Given the description of an element on the screen output the (x, y) to click on. 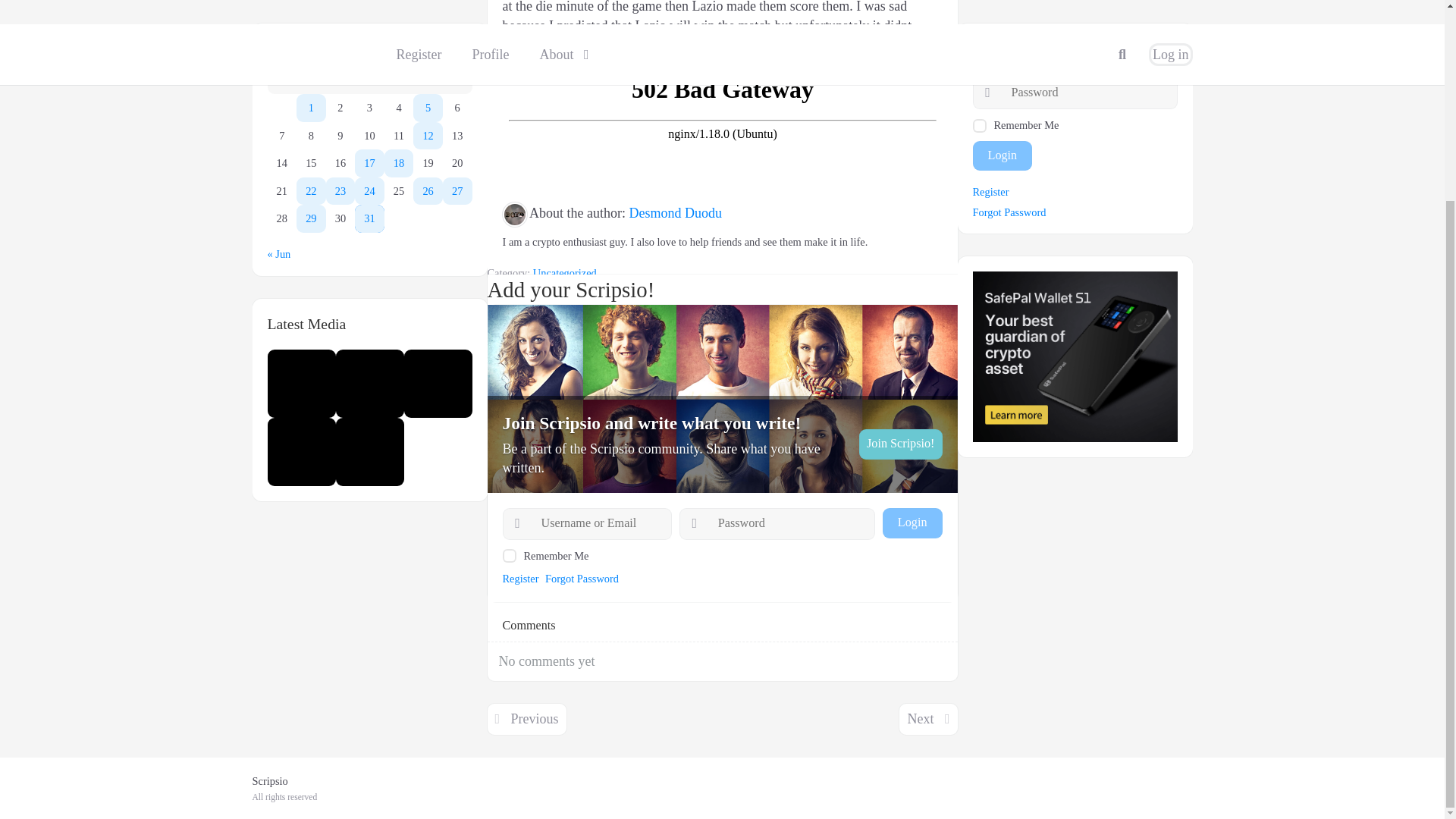
26 (427, 18)
27 (456, 18)
17 (369, 2)
24 (369, 18)
23 (340, 18)
18 (398, 2)
29 (311, 46)
31 (369, 46)
22 (311, 18)
